Given the description of an element on the screen output the (x, y) to click on. 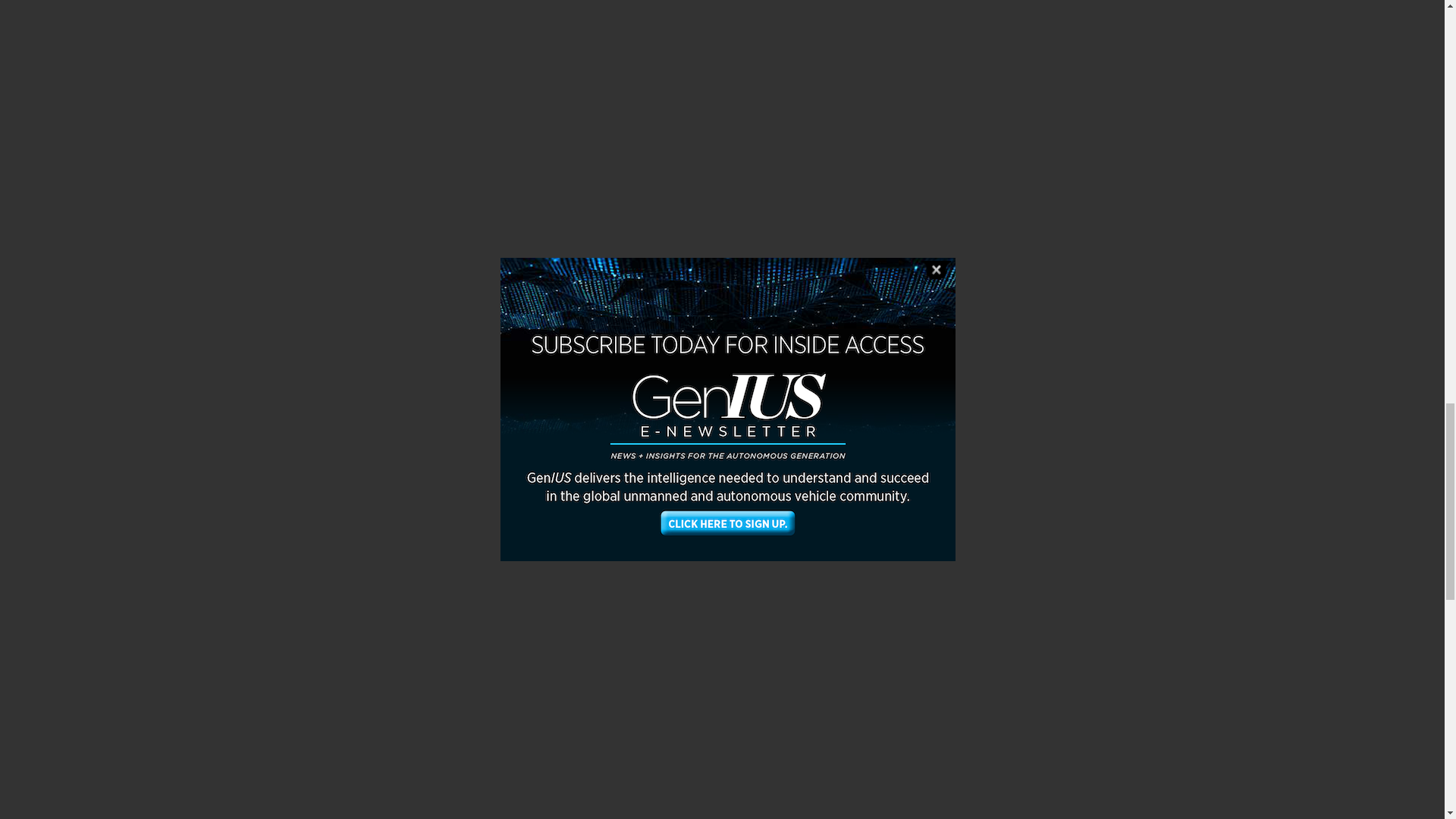
3rd party ad content (1073, 2)
